Given the description of an element on the screen output the (x, y) to click on. 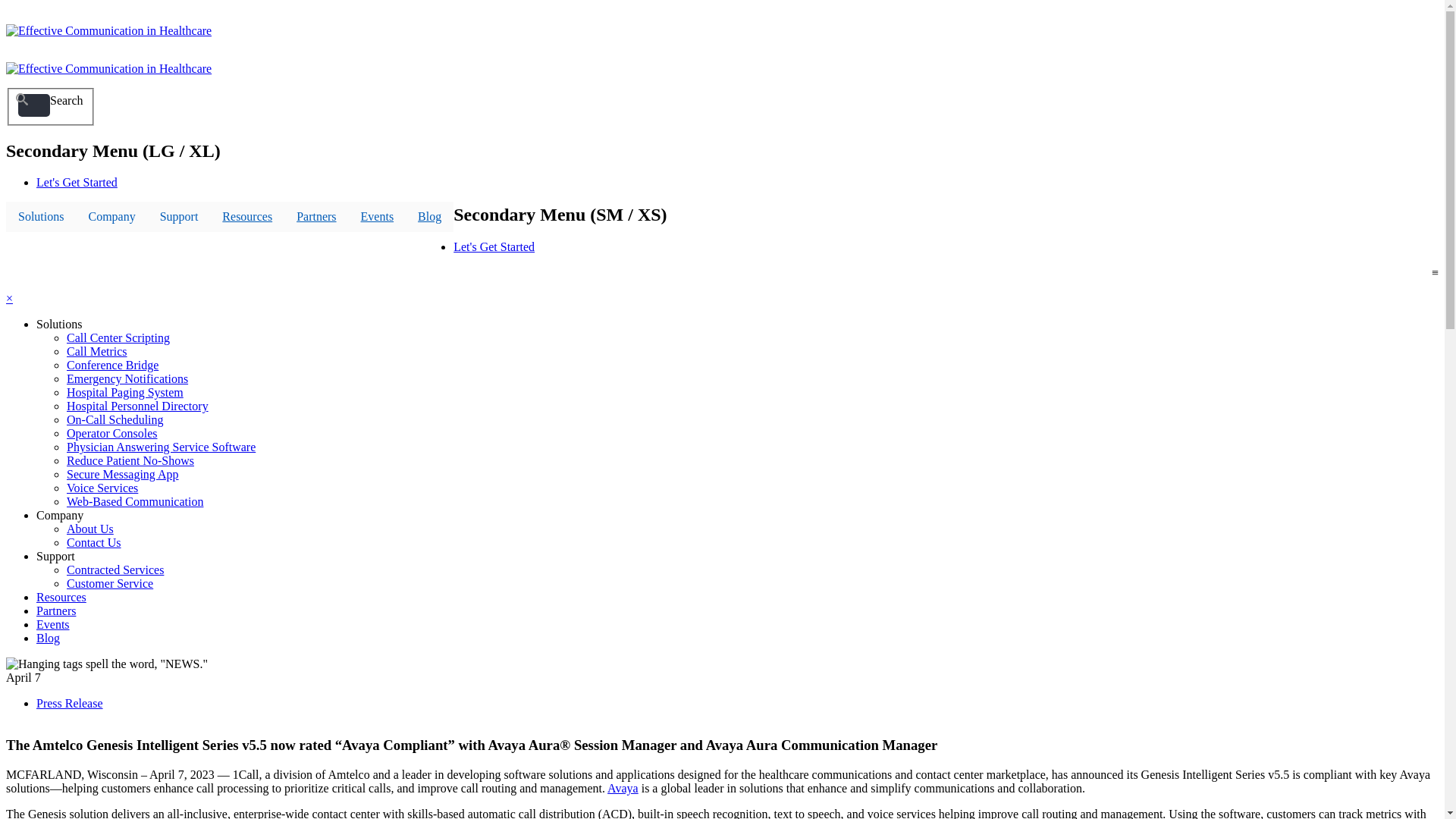
Hospital Paging System Element type: text (124, 391)
Web-Based Communication Element type: text (134, 501)
Resources Element type: text (247, 216)
Resources Element type: text (61, 596)
On-Call Scheduling Element type: text (114, 419)
Events Element type: text (52, 624)
Operator Consoles Element type: text (111, 432)
Search Element type: text (28, 133)
Blog Element type: text (47, 637)
Partners Element type: text (316, 216)
Events Element type: text (377, 216)
Contact Us Element type: text (93, 542)
Reduce Patient No-Shows Element type: text (130, 460)
Secure Messaging App Element type: text (122, 473)
Call Metrics Element type: text (96, 351)
Voice Services Element type: text (102, 487)
Partners Element type: text (55, 610)
Blog Element type: text (429, 216)
Conference Bridge Element type: text (112, 364)
Hospital Personnel Directory Element type: text (137, 405)
Call Center Scripting Element type: text (117, 337)
Avaya Element type: text (622, 787)
Let's Get Started Element type: text (493, 246)
Physician Answering Service Software Element type: text (160, 446)
Customer Service Element type: text (109, 583)
Press Release Element type: text (69, 702)
Enter the terms you wish to search for. Element type: hover (34, 105)
Emergency Notifications Element type: text (127, 378)
Contracted Services Element type: text (114, 569)
About Us Element type: text (89, 528)
Let's Get Started Element type: text (76, 181)
Skip to main content Element type: text (6, 12)
